Given the description of an element on the screen output the (x, y) to click on. 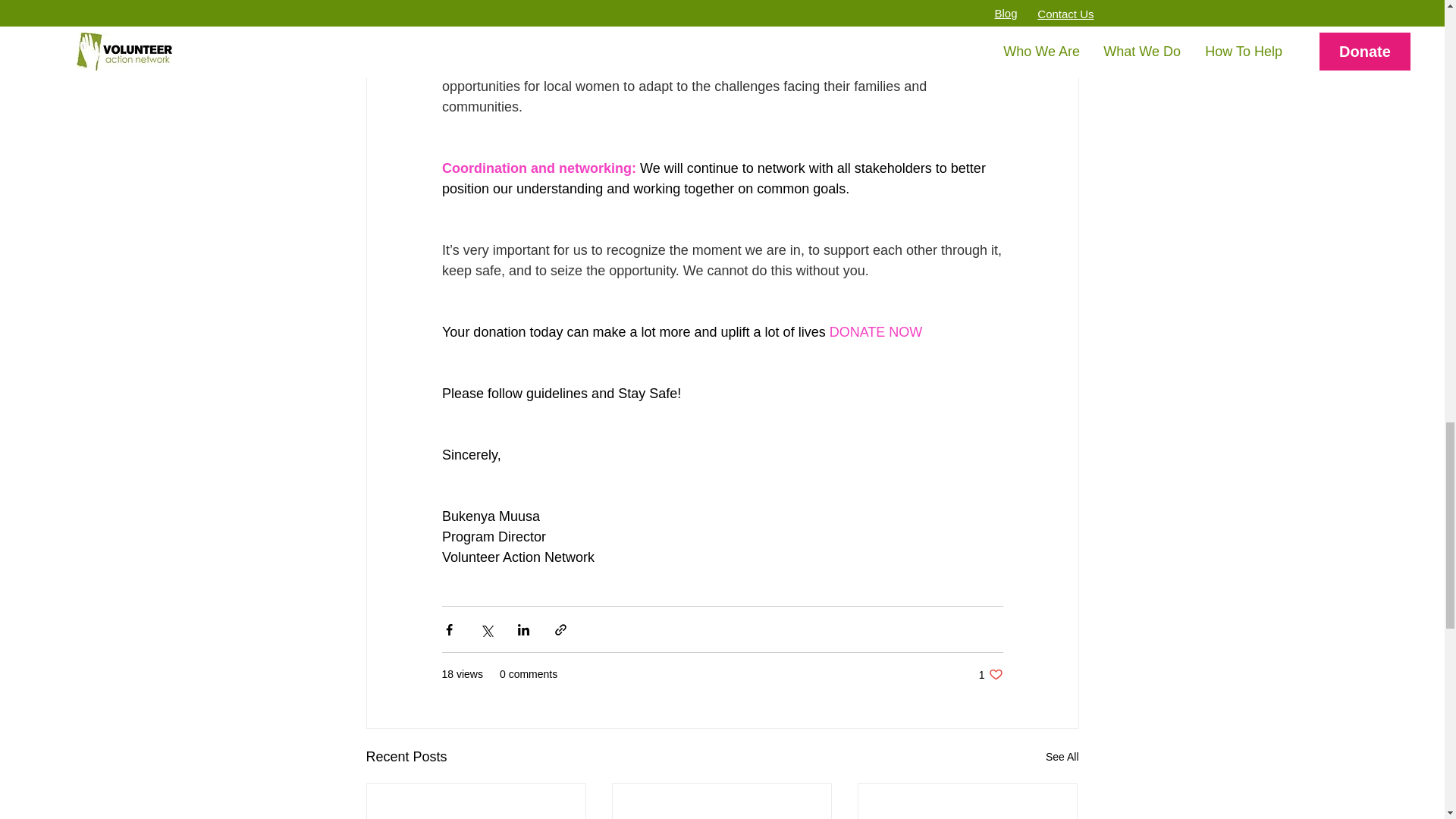
See All (1061, 757)
DONATE NOW (990, 674)
